Given the description of an element on the screen output the (x, y) to click on. 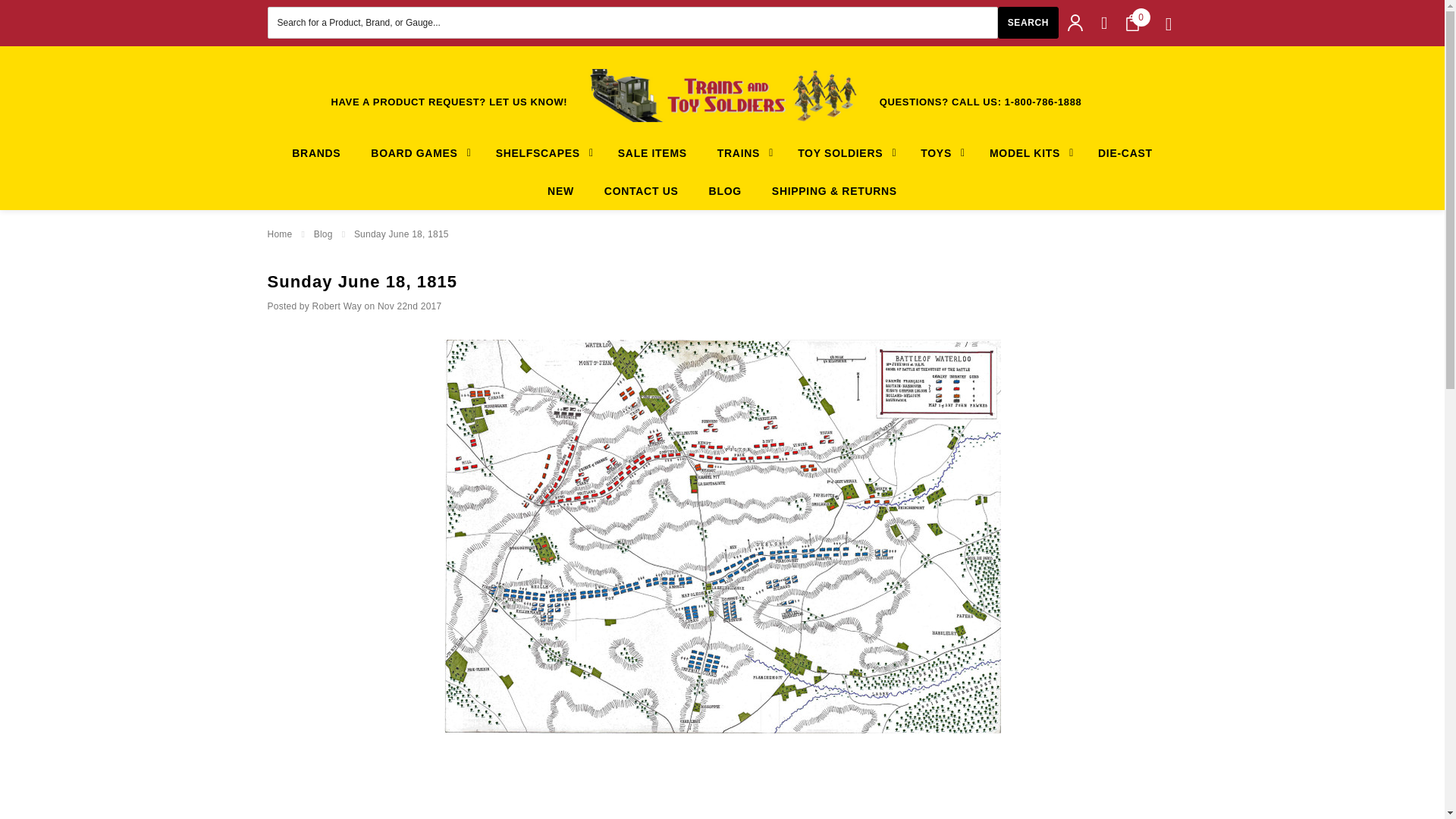
Trains And Toy Soldiers (722, 95)
My Account (1075, 22)
Search (1027, 22)
